Given the description of an element on the screen output the (x, y) to click on. 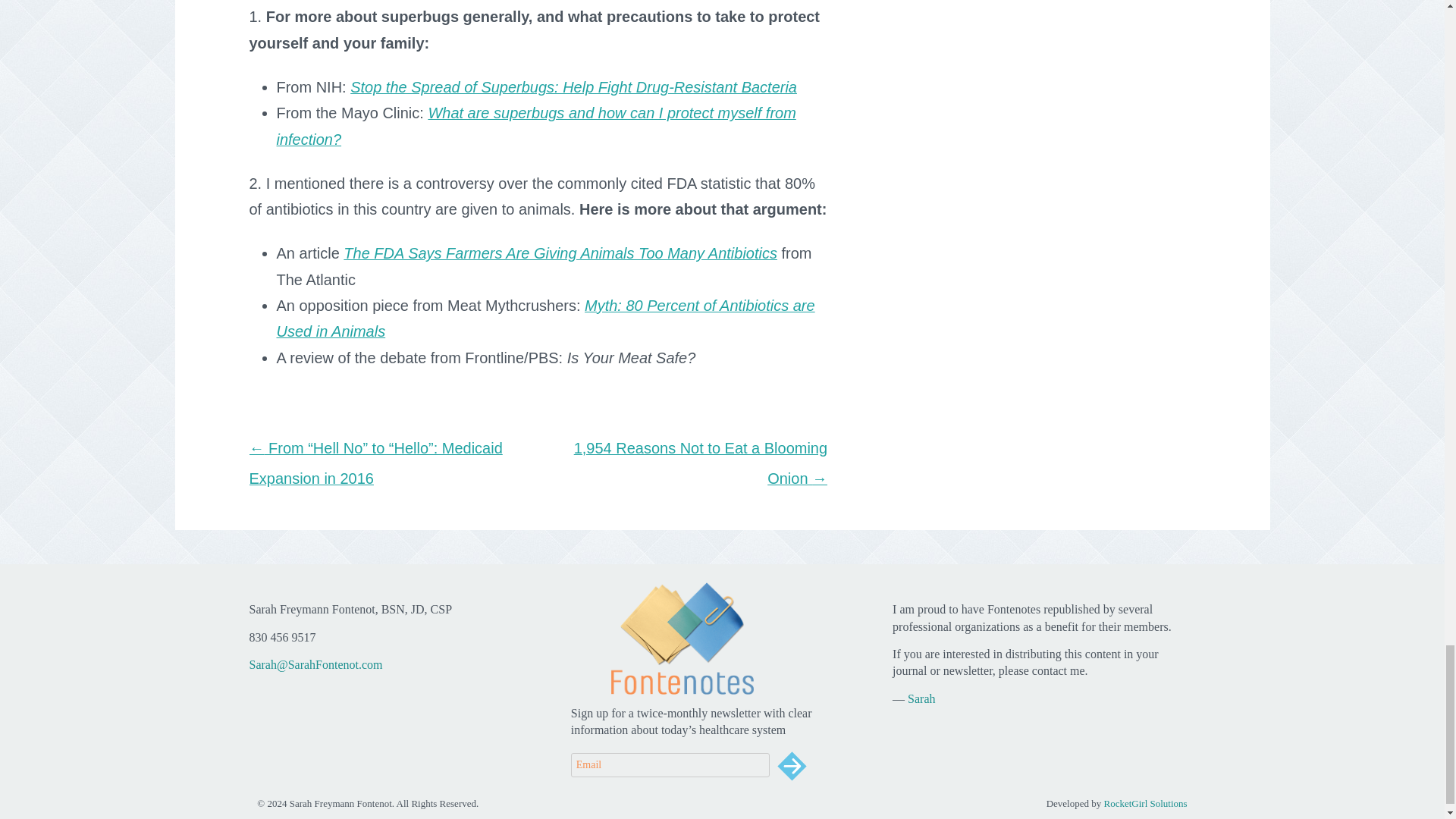
Sign up (791, 766)
Myth: 80 Percent of Antibiotics are Used in Animals (544, 318)
The FDA Says Farmers Are Giving Animals Too Many Antibiotics (560, 252)
